Given the description of an element on the screen output the (x, y) to click on. 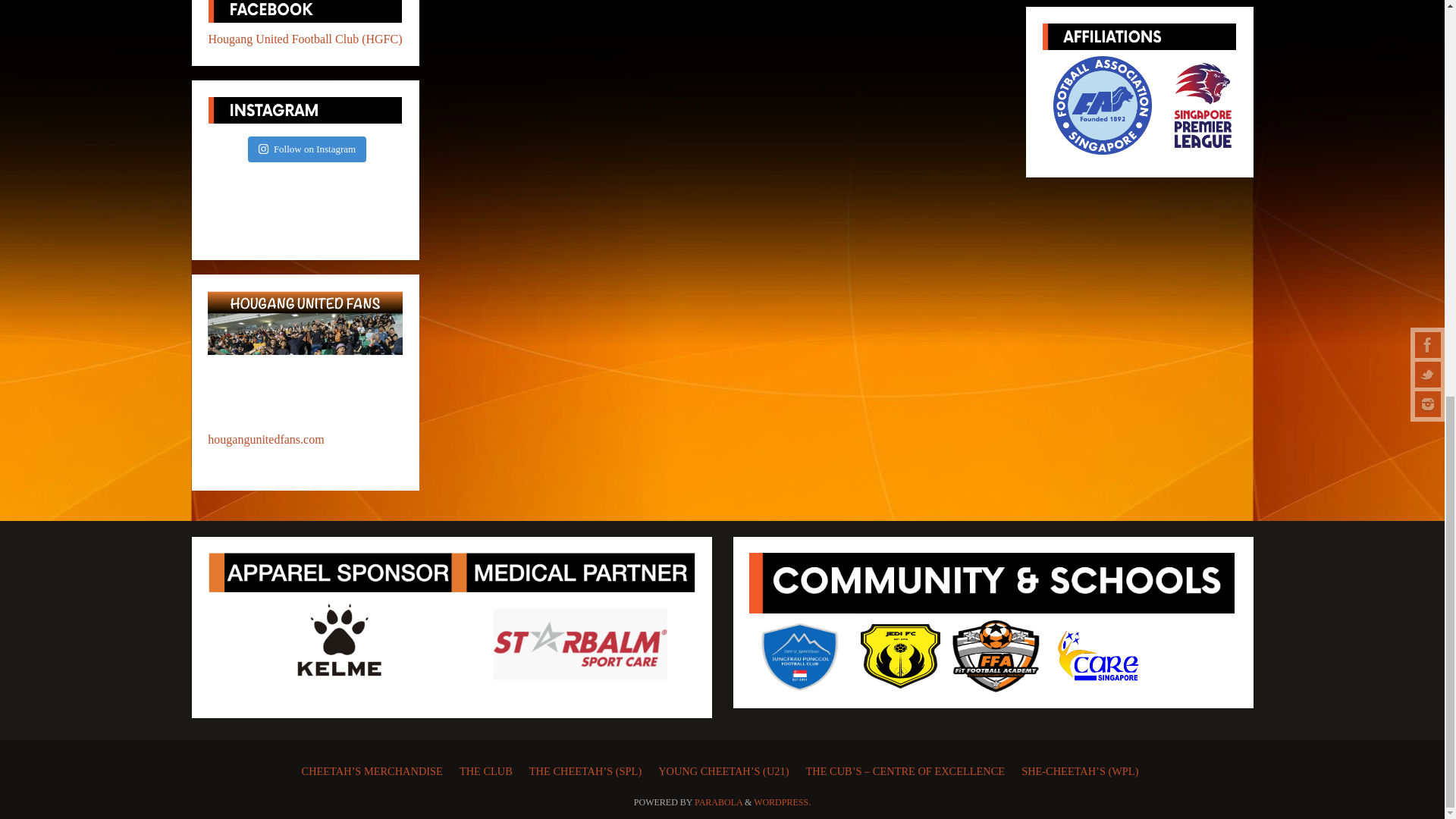
Semantic Personal Publishing Platform (782, 801)
hougangunitedfans.com (265, 439)
Follow on Instagram (306, 149)
Parabola Theme by Cryout Creations (718, 801)
